Given the description of an element on the screen output the (x, y) to click on. 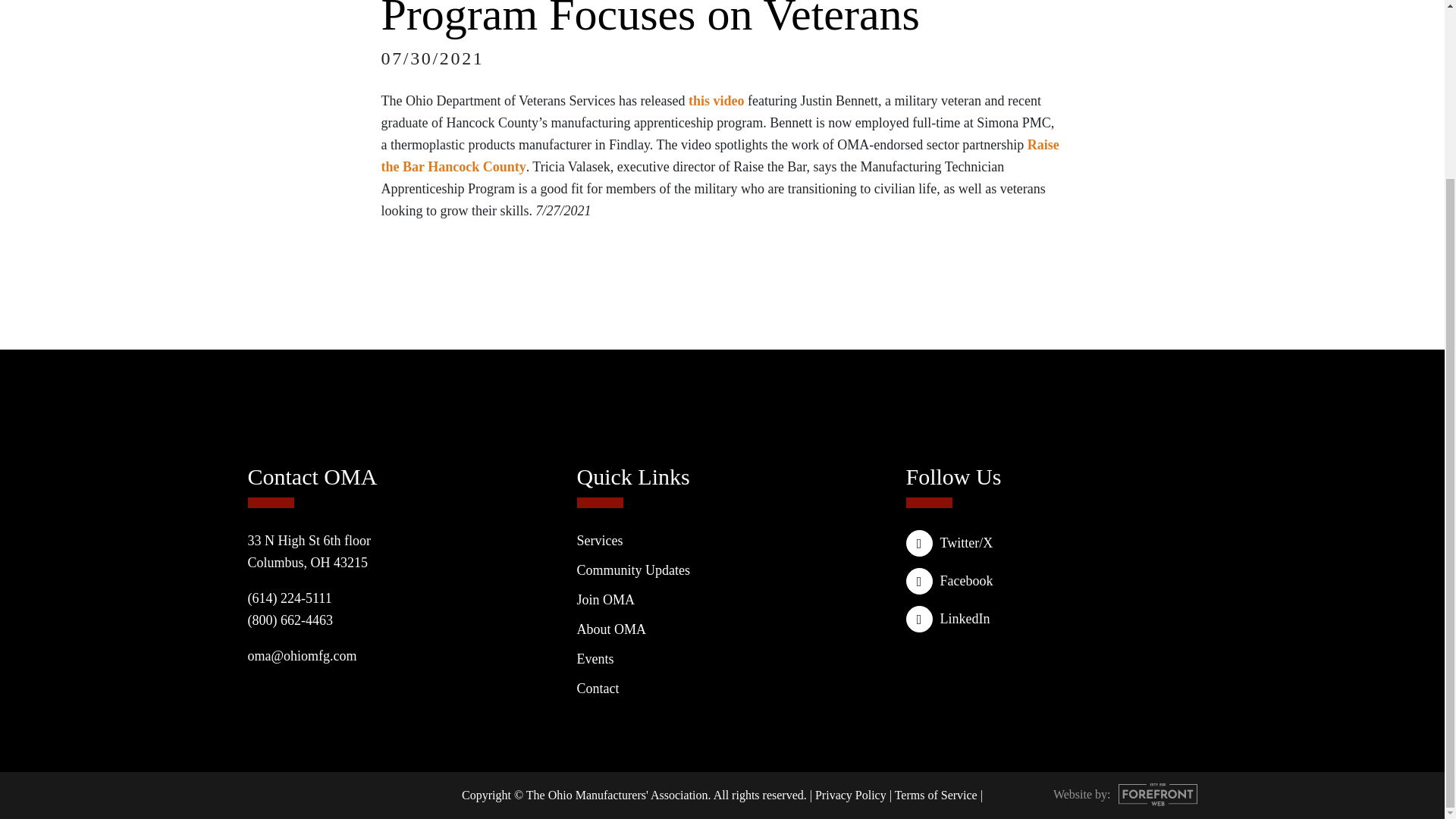
this video (716, 100)
Facebook (1050, 581)
LinkedIn (1050, 619)
View on Google Maps (309, 551)
Call Us (289, 598)
Call Us (289, 620)
